Given the description of an element on the screen output the (x, y) to click on. 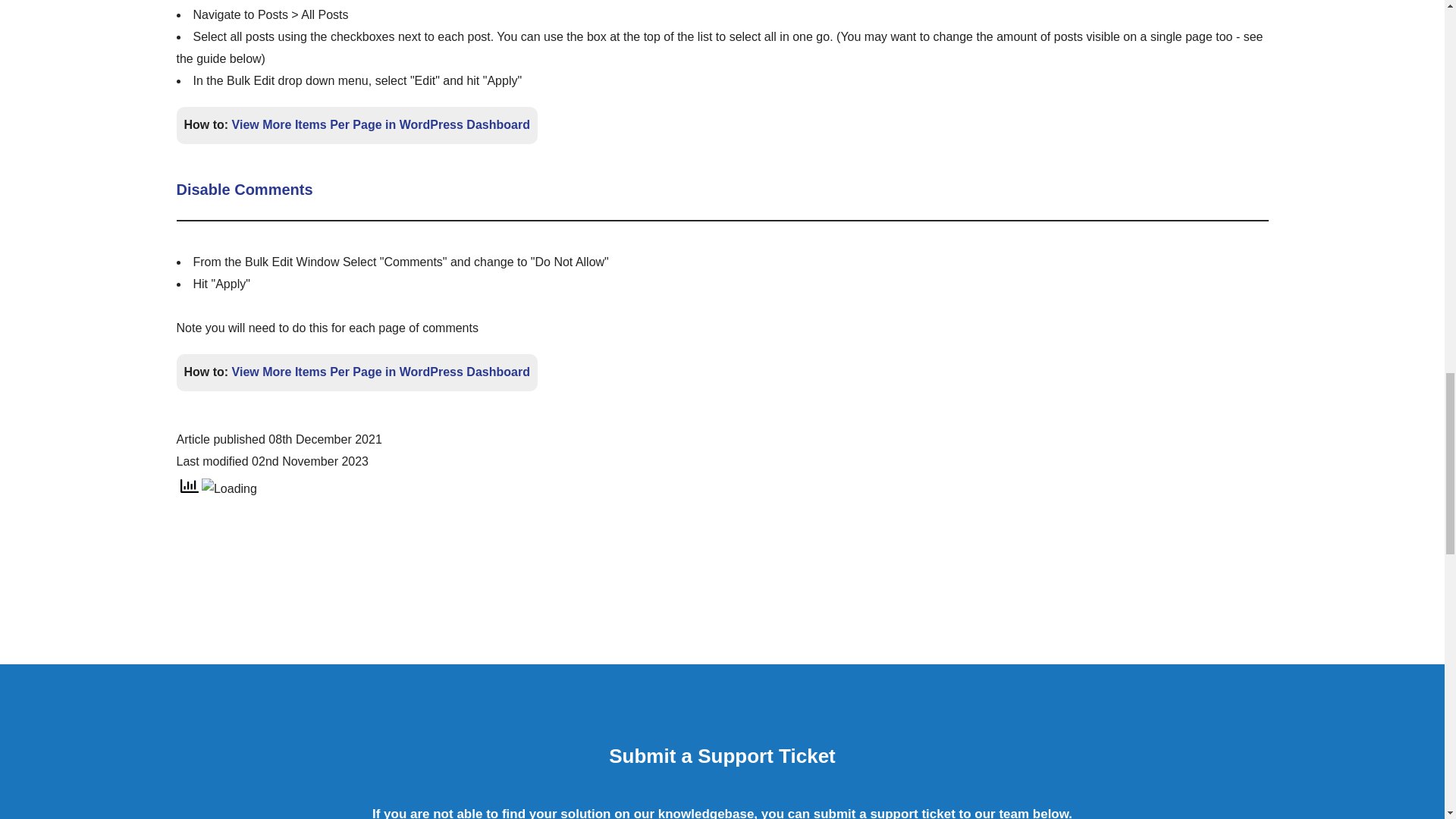
View More Items Per Page in WordPress Dashboard (380, 371)
View More Items Per Page in WordPress Dashboard (380, 124)
